Given the description of an element on the screen output the (x, y) to click on. 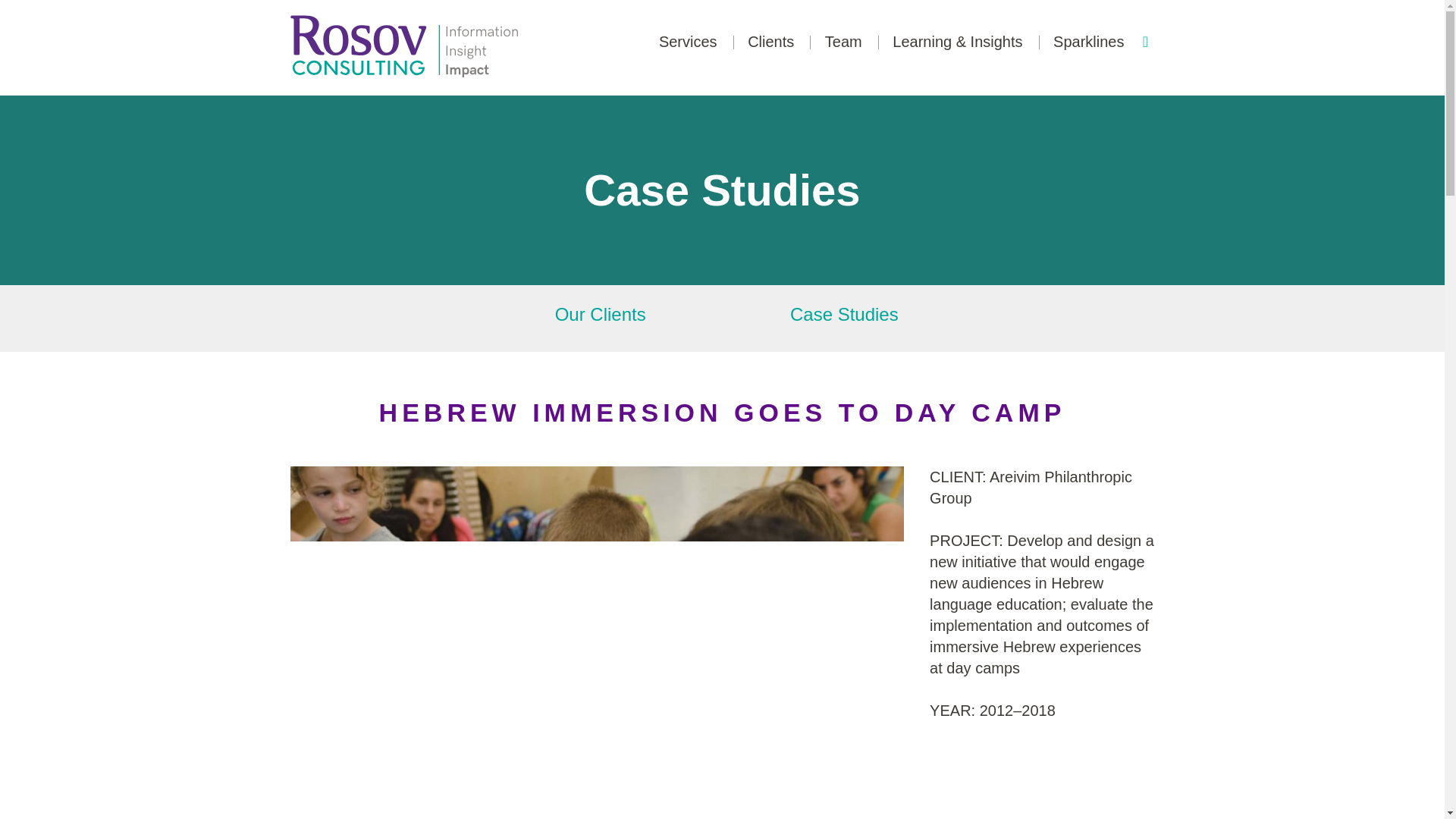
Team (843, 41)
Case Studies (844, 317)
Sparklines (1088, 41)
Our Clients (600, 317)
Clients (770, 41)
Services (688, 41)
Search for: (1231, 38)
